Given the description of an element on the screen output the (x, y) to click on. 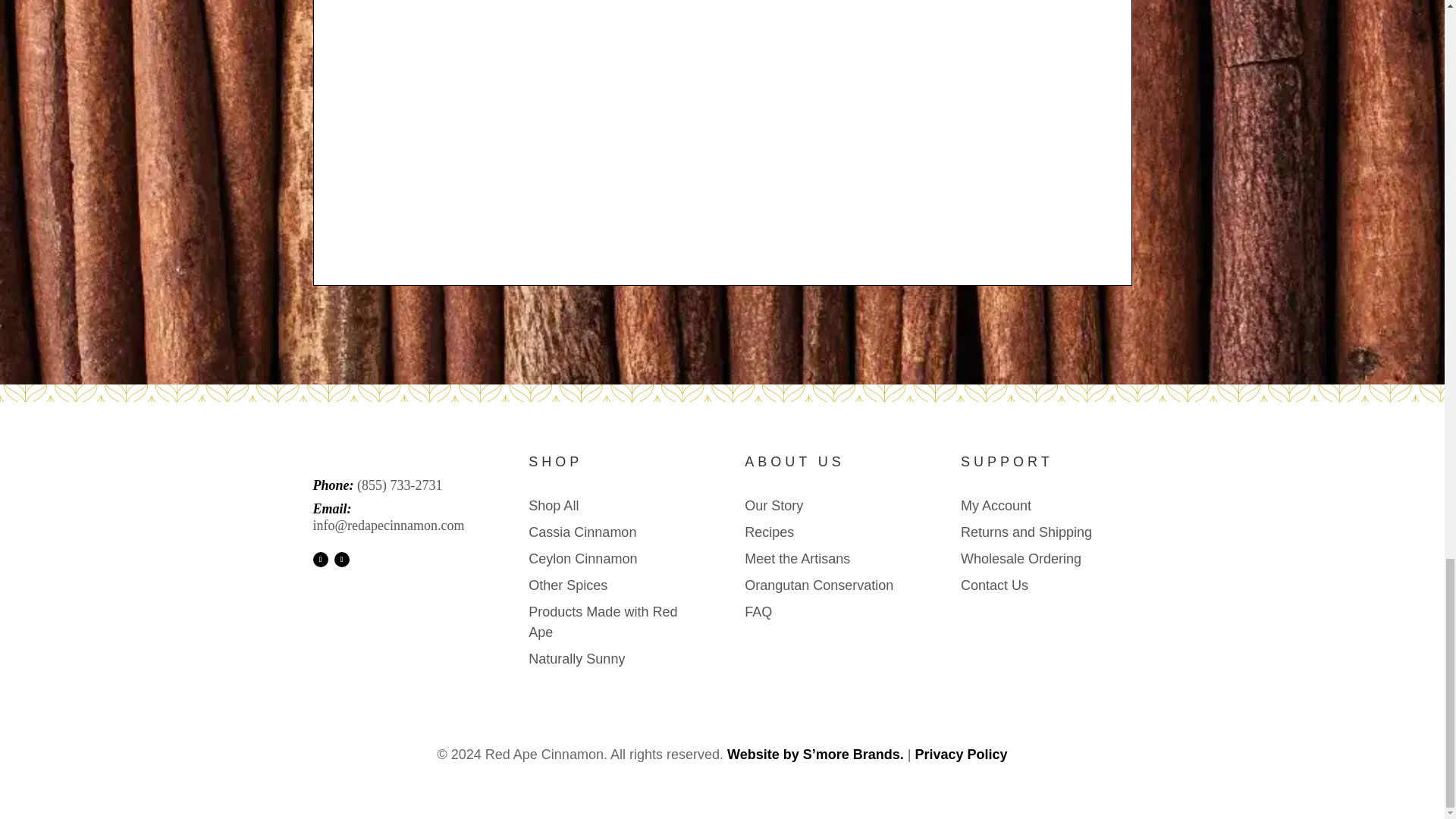
Follow on Instagram (341, 559)
Follow on Facebook (320, 559)
